Given the description of an element on the screen output the (x, y) to click on. 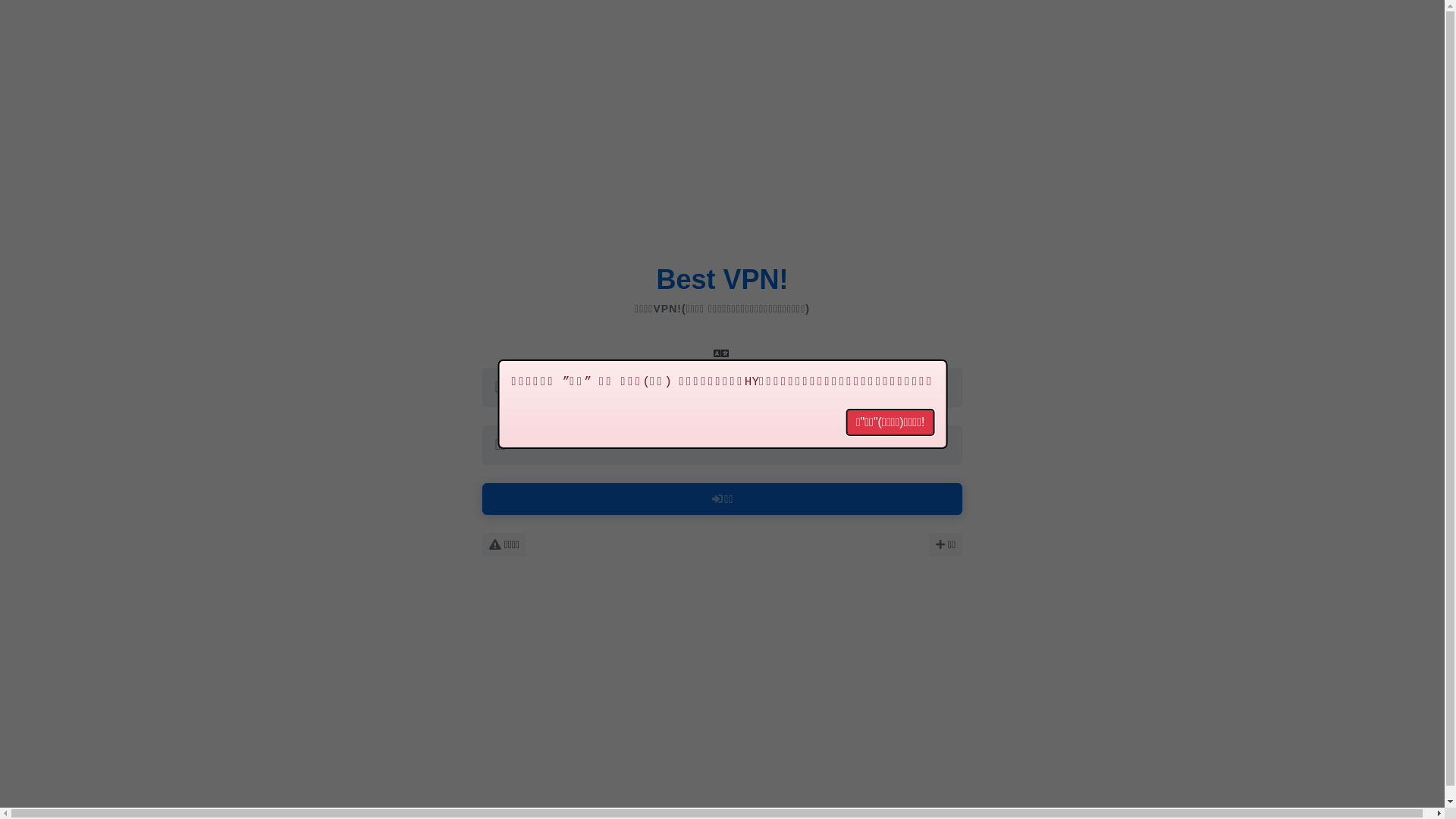
Best VPN! Element type: text (721, 278)
